Given the description of an element on the screen output the (x, y) to click on. 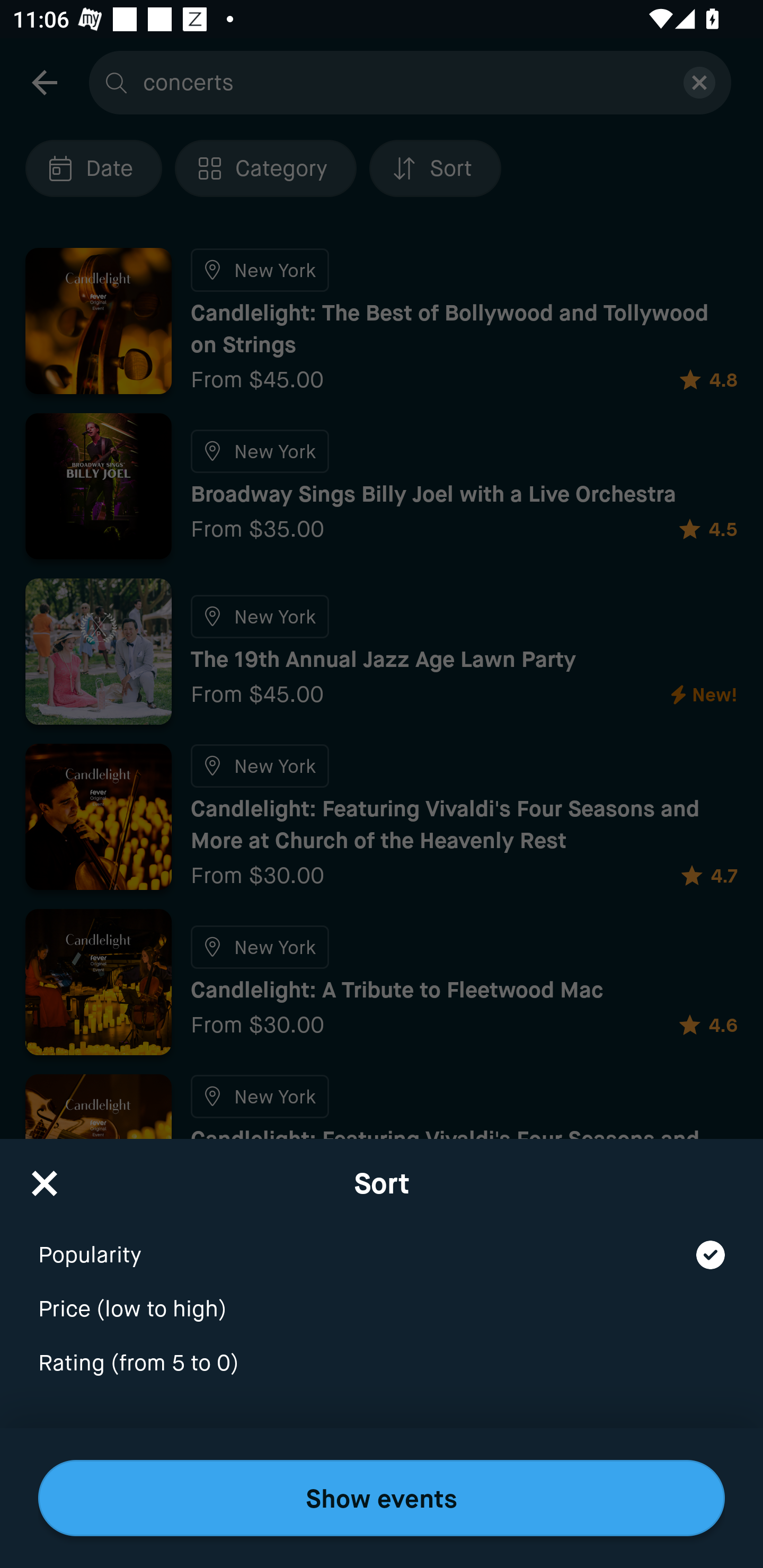
CloseButton (44, 1177)
Popularity Selected Icon (381, 1243)
Price (low to high) (381, 1297)
Rating (from 5 to 0) (381, 1362)
Show events (381, 1497)
